Given the description of an element on the screen output the (x, y) to click on. 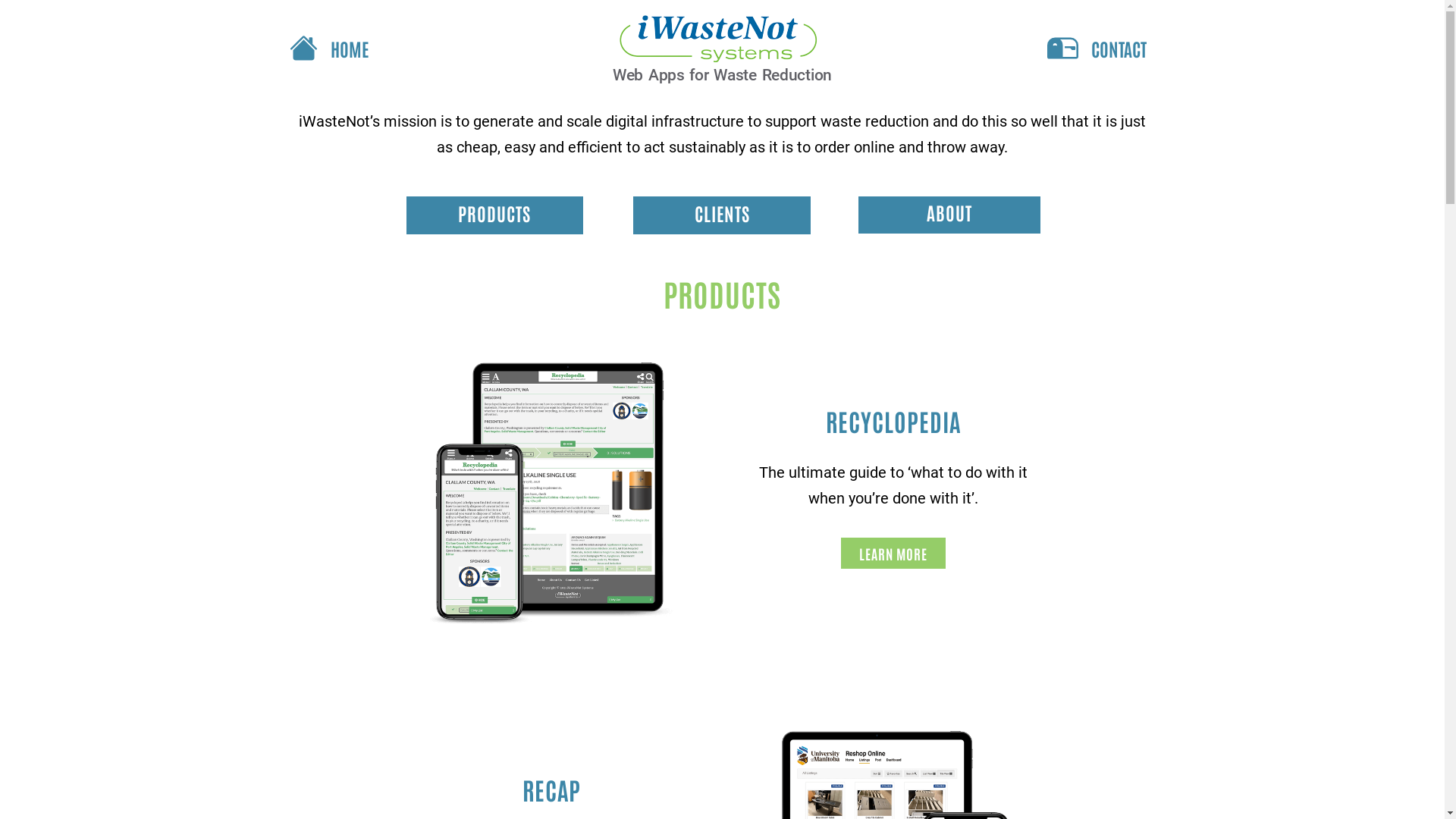
LEARN MORE Element type: text (892, 552)
ABOUT Element type: text (949, 214)
HOME Element type: text (433, 47)
PRODUCTS Element type: text (494, 215)
CONTACT Element type: text (1094, 47)
CLIENTS Element type: text (721, 215)
